Given the description of an element on the screen output the (x, y) to click on. 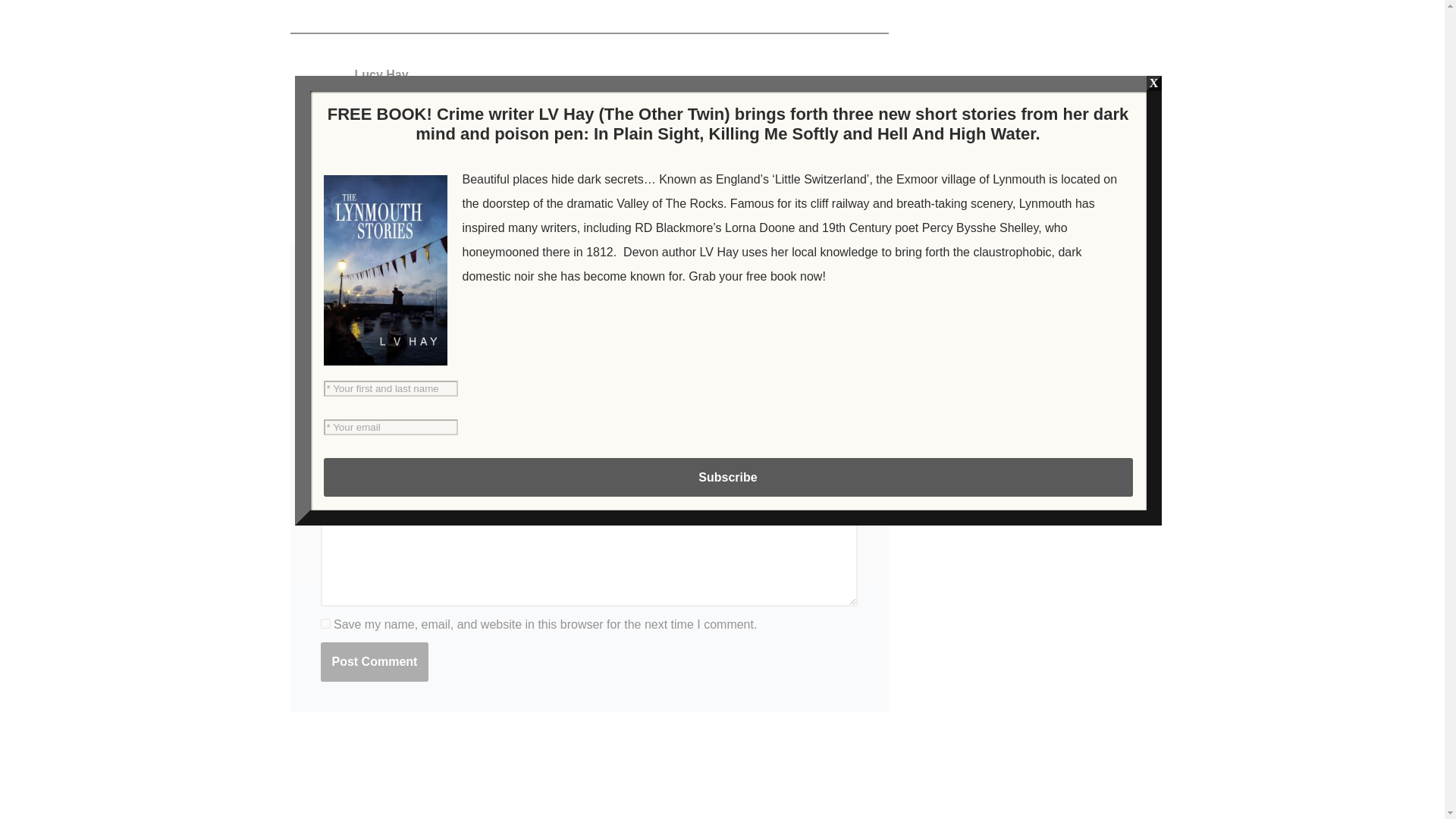
Post Comment (374, 661)
